Given the description of an element on the screen output the (x, y) to click on. 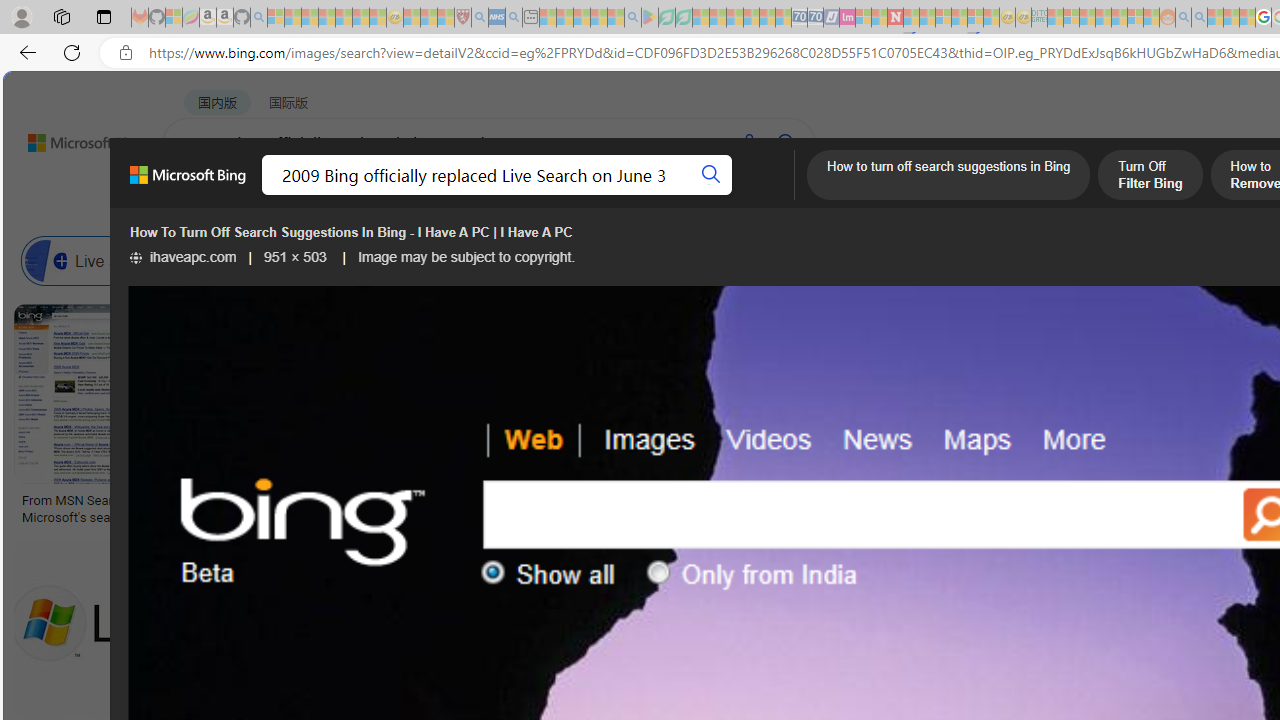
Pets - MSN - Sleeping (598, 17)
ACADEMIC (635, 195)
Bing Logo Design Evolution 2009 to 2016 | Smithographic (1031, 507)
DICT (717, 195)
